Given the description of an element on the screen output the (x, y) to click on. 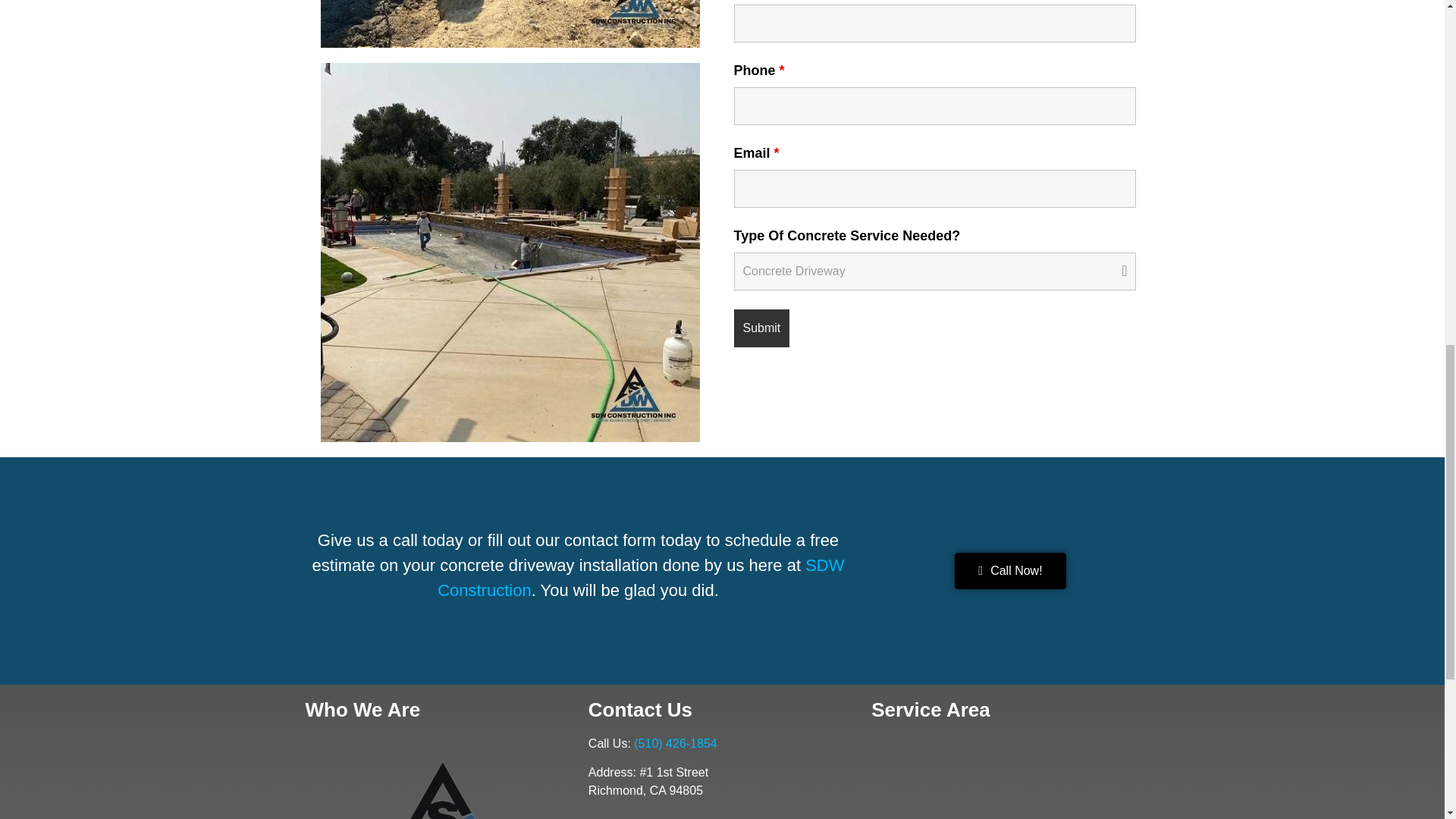
Call Now! (1010, 570)
Submit (761, 328)
Submit (761, 328)
SDW Construction (641, 577)
